Given the description of an element on the screen output the (x, y) to click on. 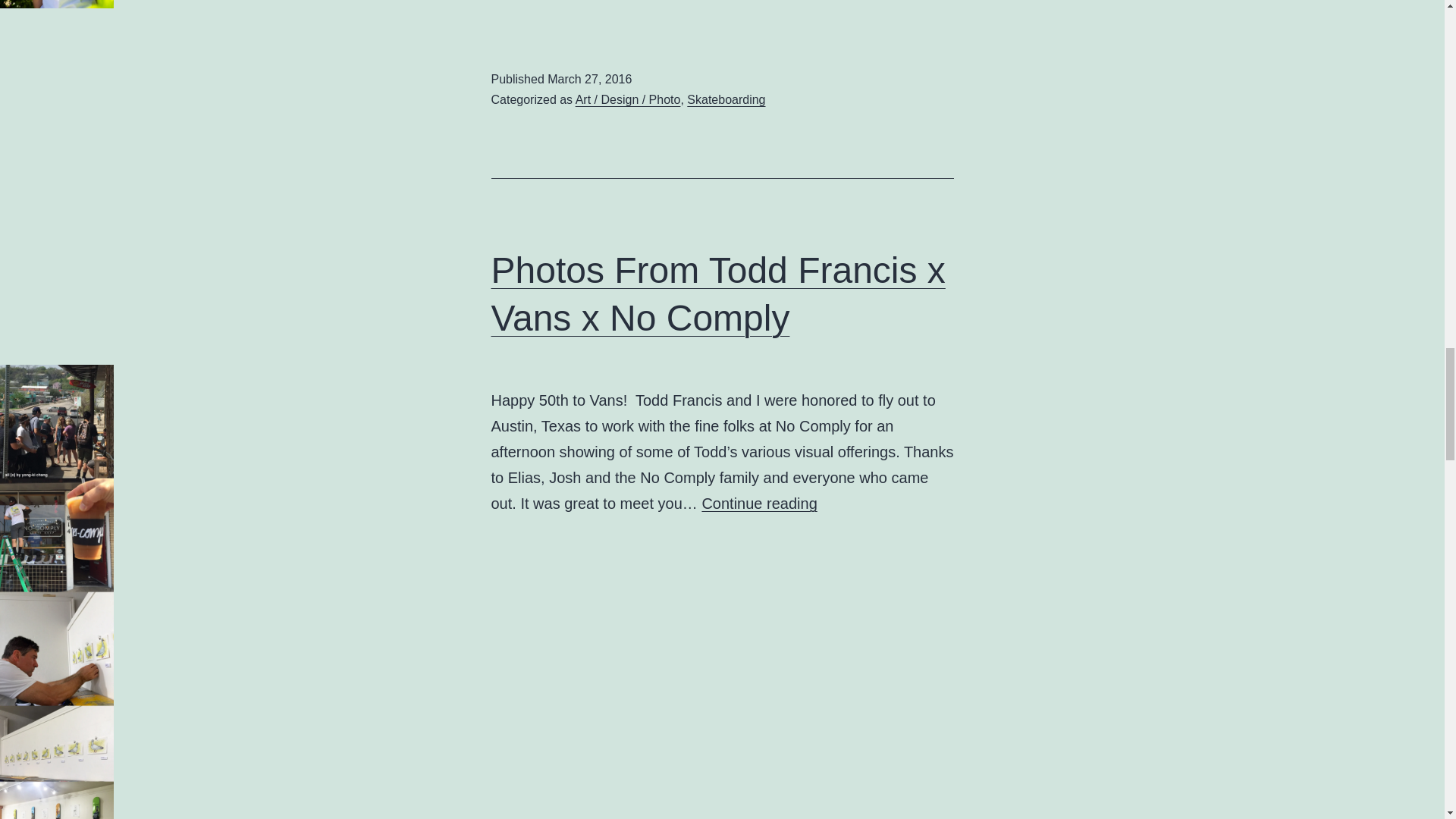
Skateboarding (726, 99)
Photos From Todd Francis x Vans x No Comply (758, 503)
